Given the description of an element on the screen output the (x, y) to click on. 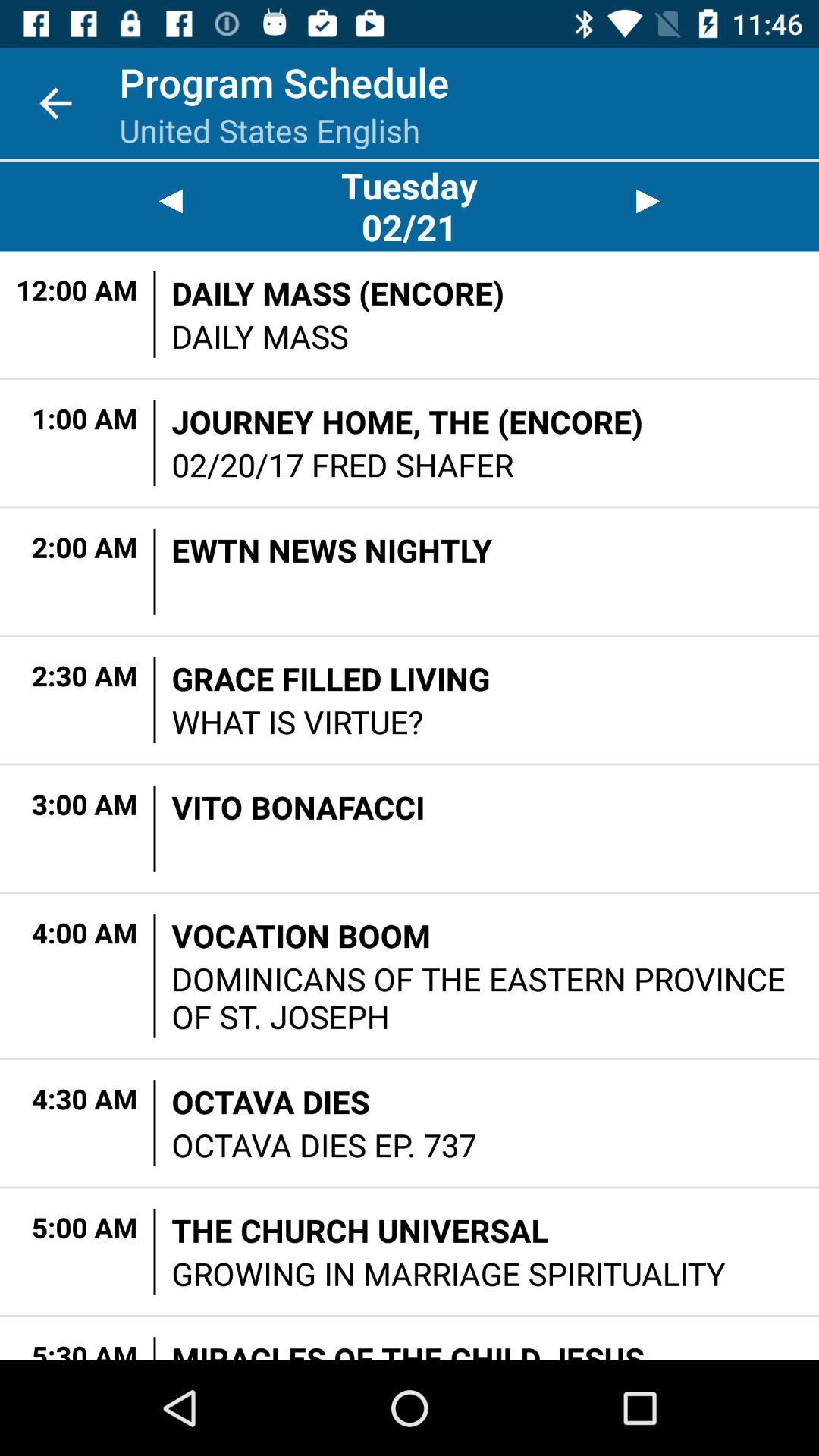
select the icon below daily mass (407, 421)
